Given the description of an element on the screen output the (x, y) to click on. 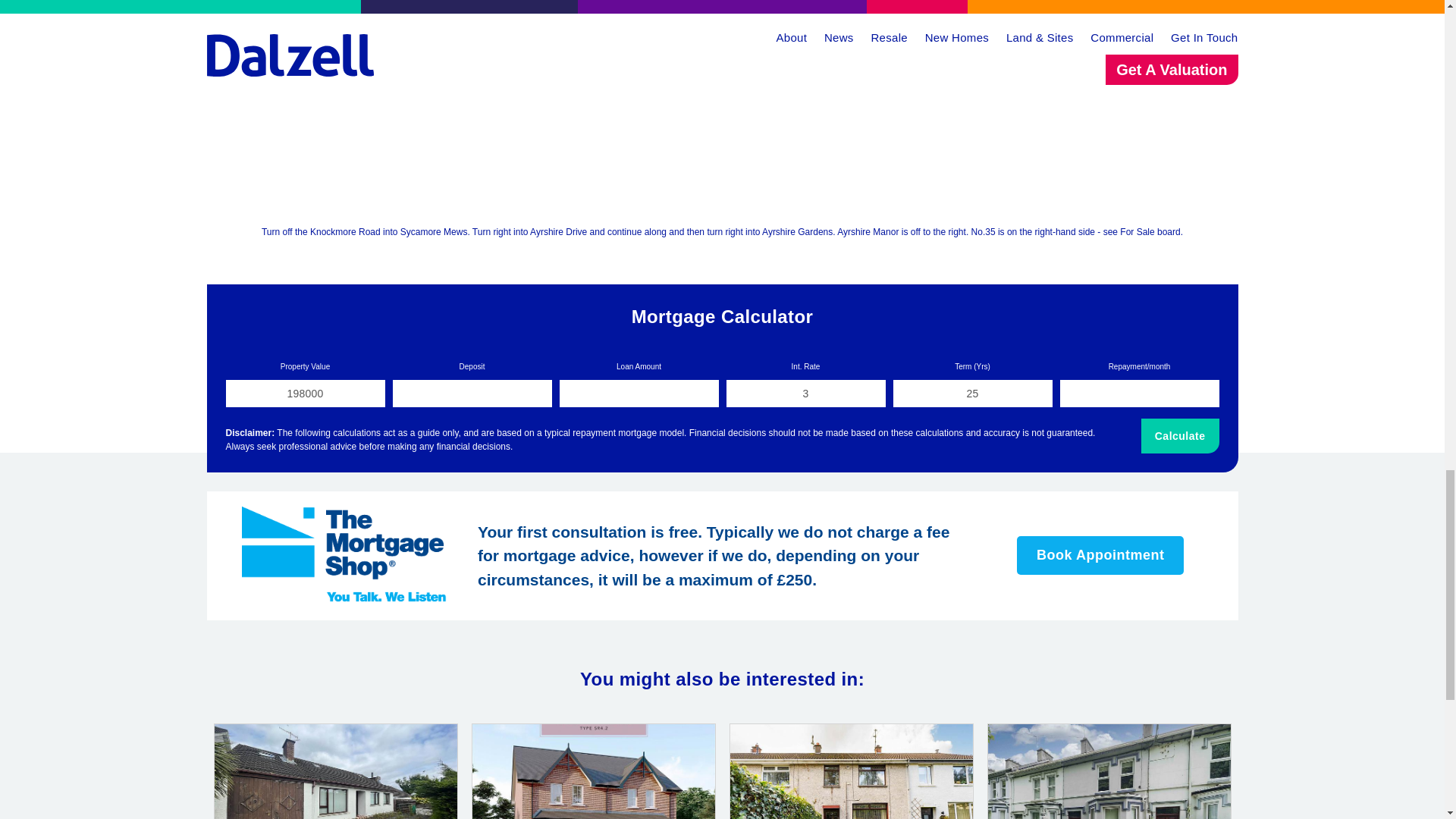
Calculate (1180, 435)
198000 (305, 393)
25 (972, 393)
3 (805, 393)
